Given the description of an element on the screen output the (x, y) to click on. 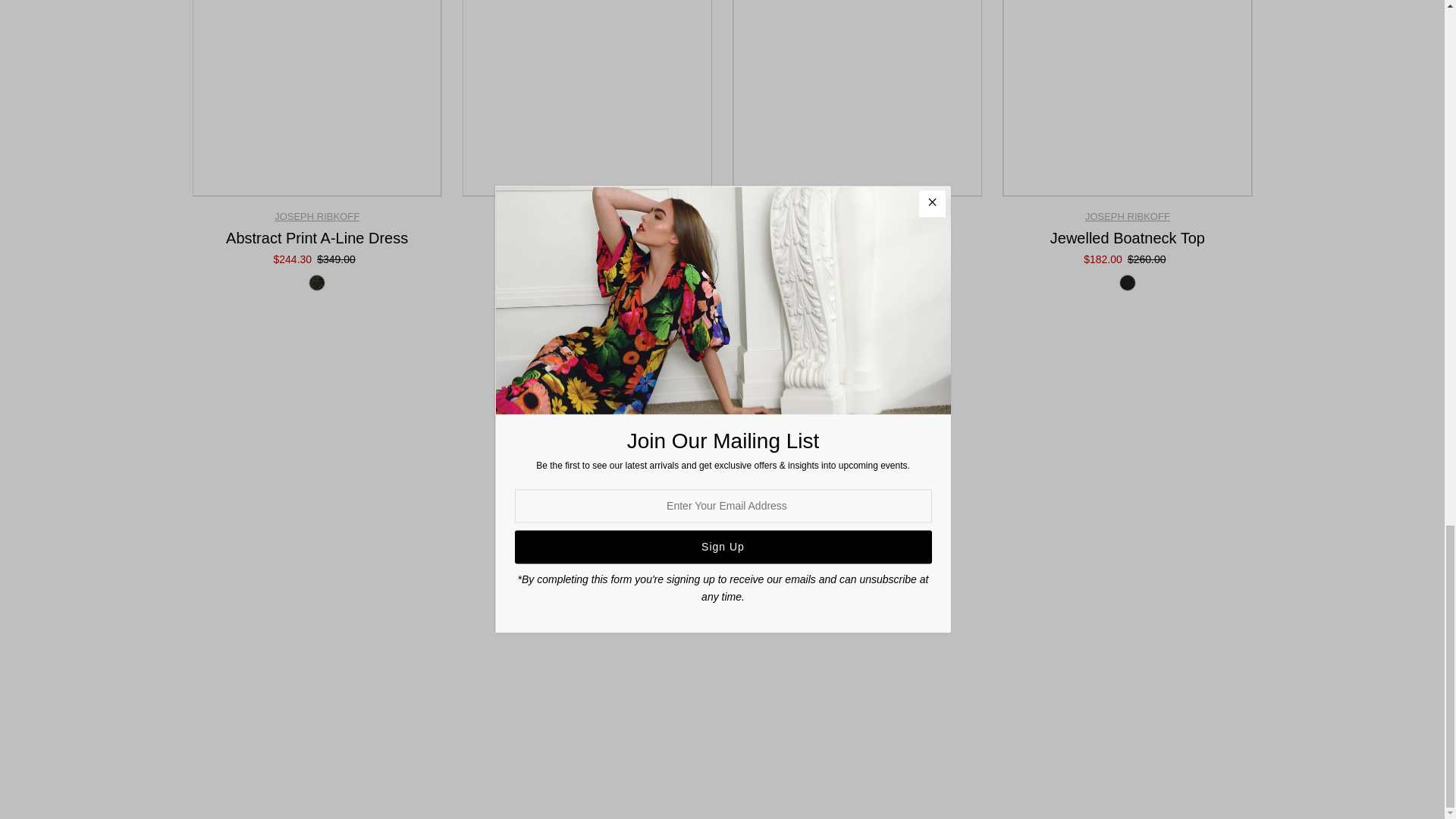
Abstract Print A-Line Dress (316, 98)
Jewelled Boatneck Top (1126, 98)
Tunic Dress (587, 98)
Abstract Tunic Top (857, 98)
